Given the description of an element on the screen output the (x, y) to click on. 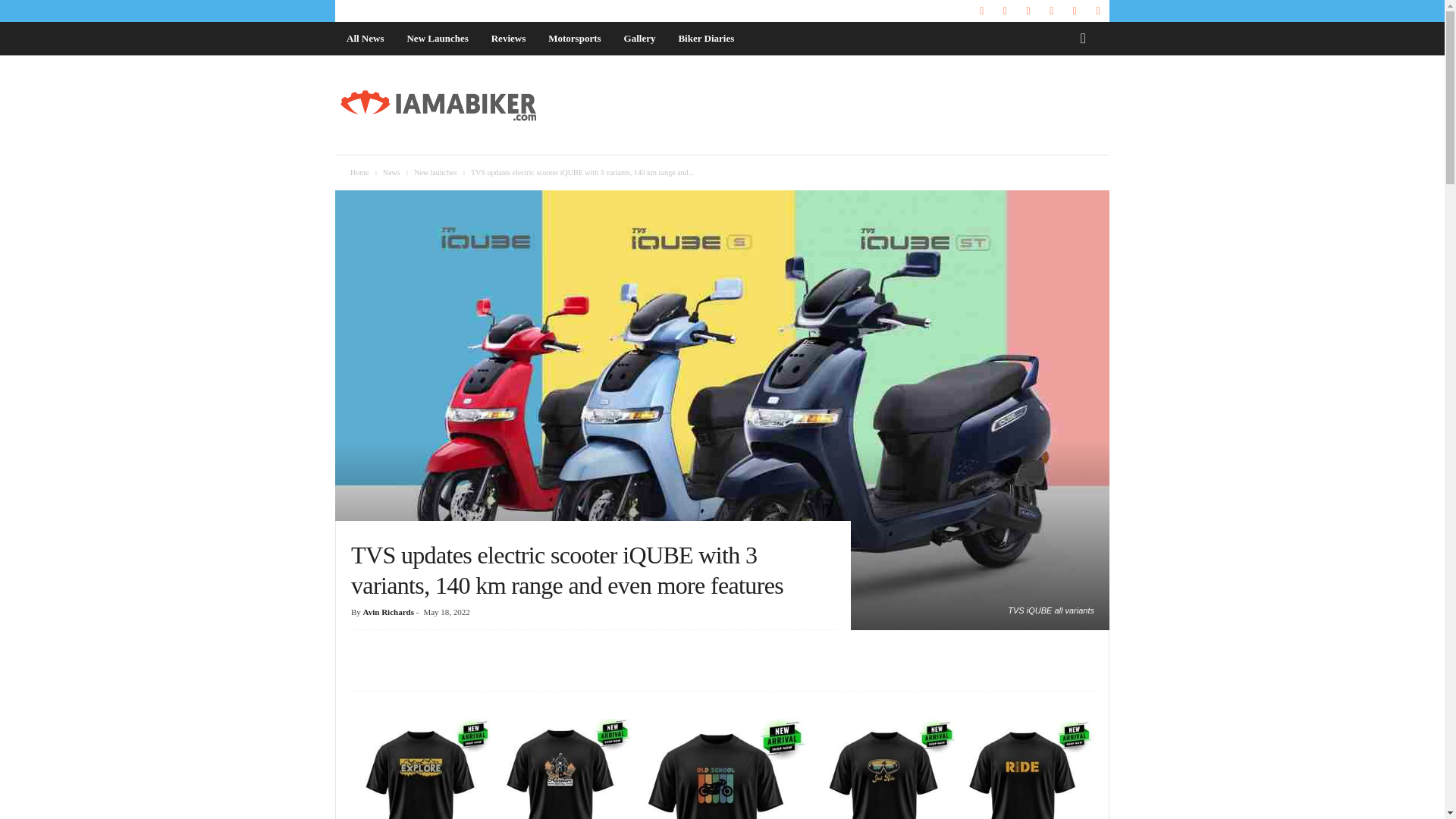
All News (364, 38)
CONTACT US (441, 10)
TERMS AND CONDITIONS (658, 10)
KNOW THE TEAM (370, 10)
